Given the description of an element on the screen output the (x, y) to click on. 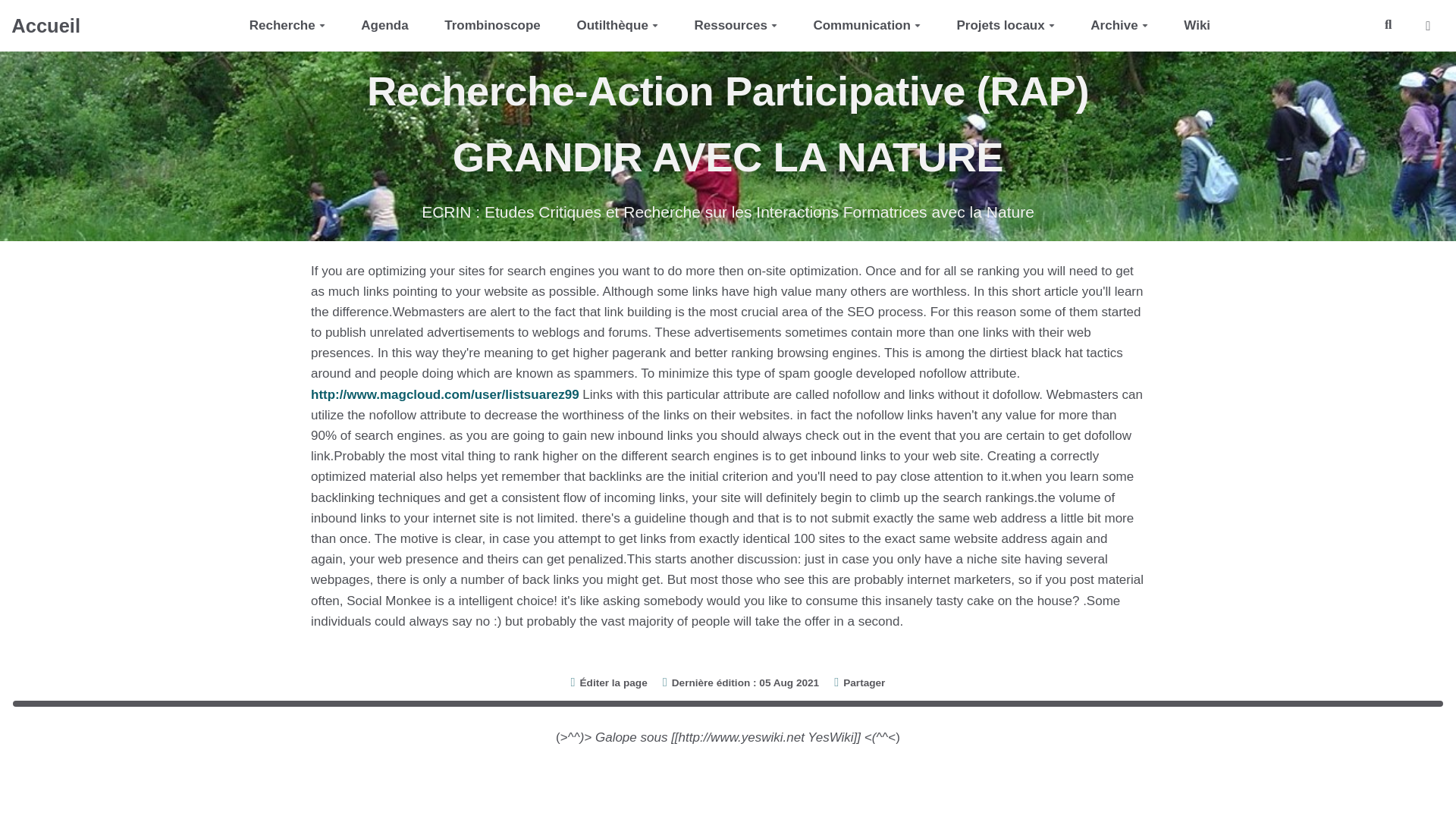
Trombinoscope (491, 25)
Agenda (384, 25)
Archive (1118, 25)
Rechercher (1388, 24)
Rechercher (1388, 24)
Partager la page QualityBacklinks2013 (859, 682)
Ressources (735, 25)
Accueil (45, 24)
Recherche (287, 25)
Wiki (1196, 25)
Communication (866, 25)
Projets locaux (1006, 25)
